Given the description of an element on the screen output the (x, y) to click on. 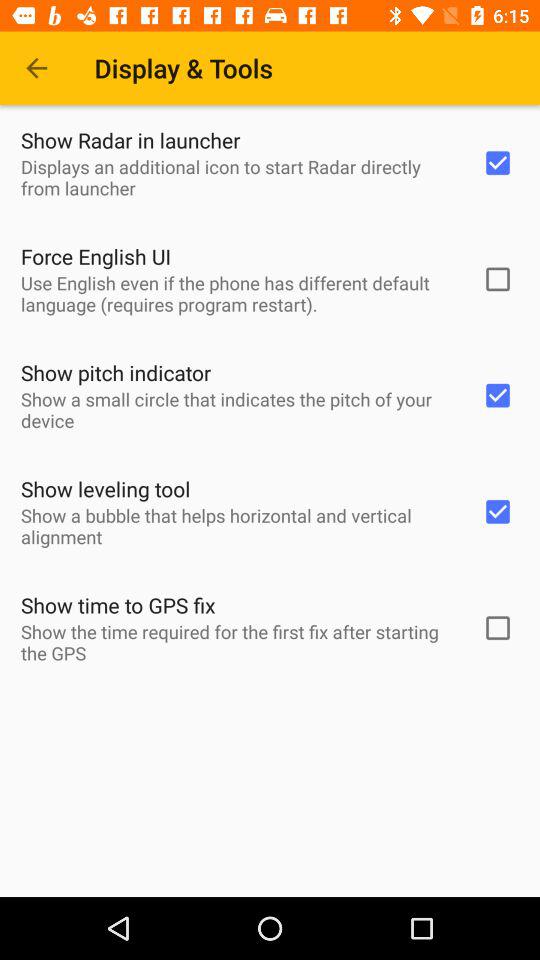
turn on the item above use english even icon (95, 256)
